Given the description of an element on the screen output the (x, y) to click on. 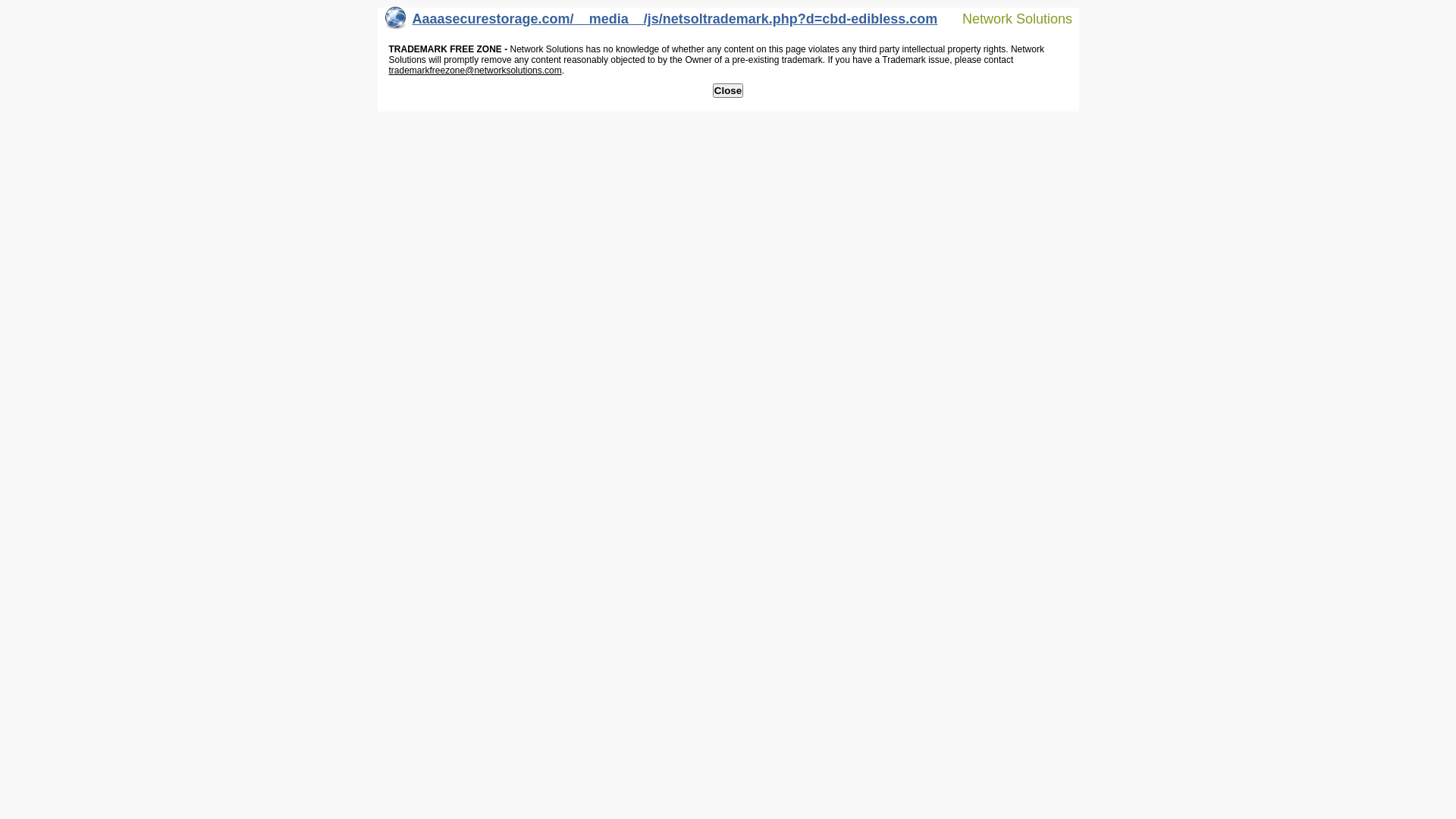
trademarkfreezone@networksolutions.com Element type: text (474, 70)
Network Solutions Element type: text (1007, 17)
Close Element type: text (727, 90)
